Given the description of an element on the screen output the (x, y) to click on. 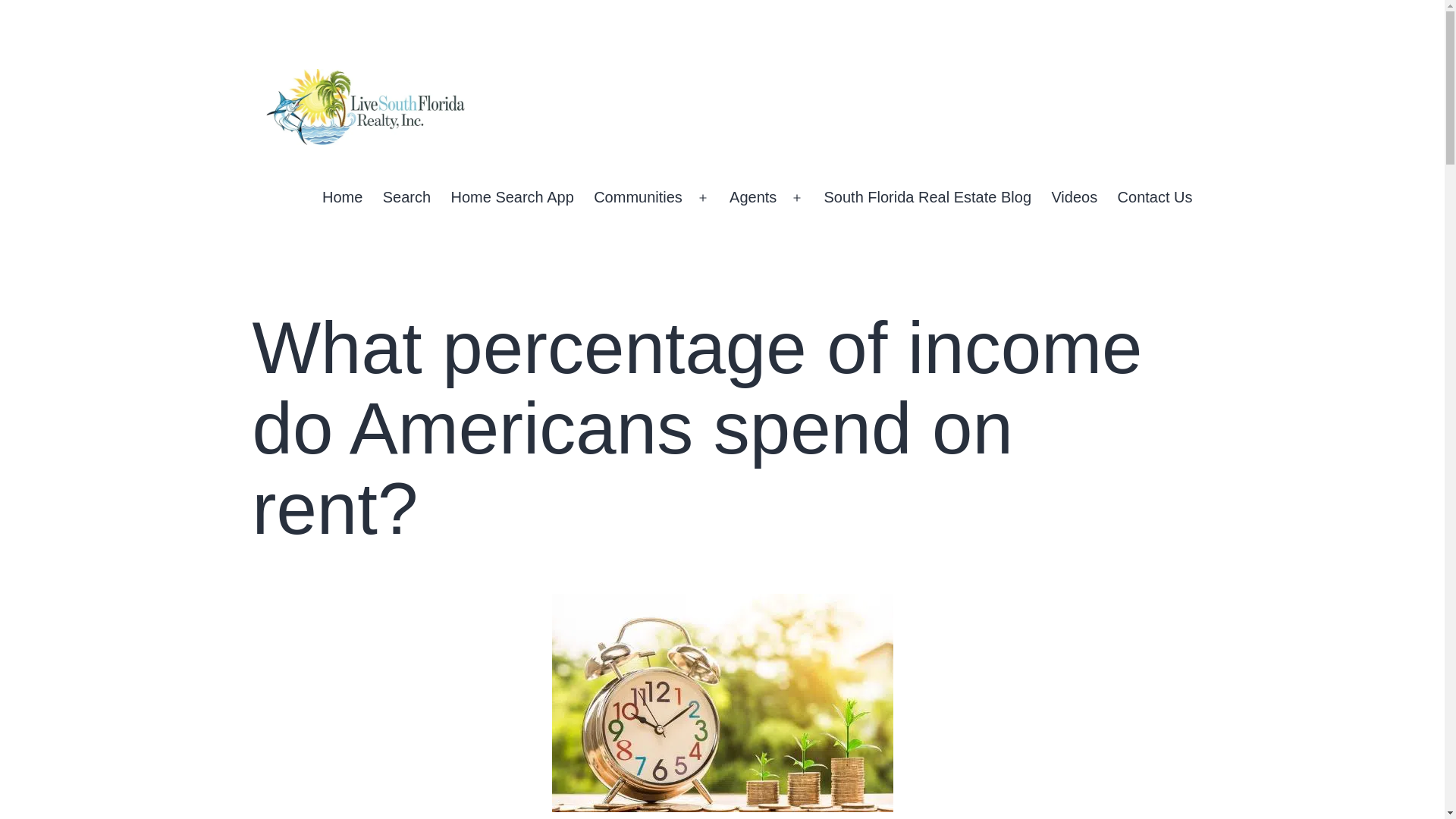
Agents (753, 198)
Contact Us (1154, 198)
Search (406, 198)
South Florida Real Estate Blog (927, 198)
Home (342, 198)
Home Search App (512, 198)
Videos (1073, 198)
Communities (638, 198)
